Given the description of an element on the screen output the (x, y) to click on. 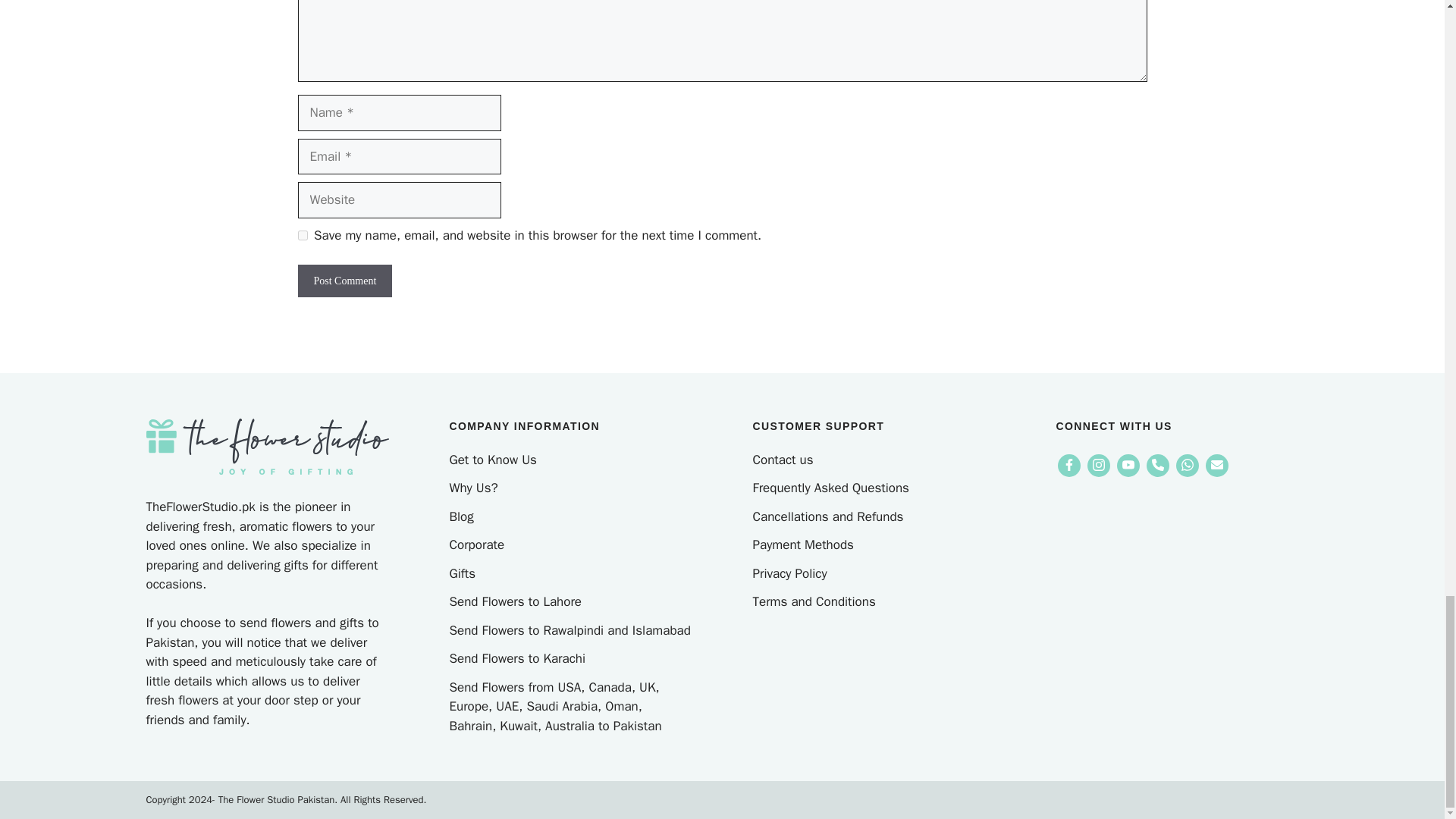
yes (302, 235)
Post Comment (344, 280)
tfslogo (266, 446)
